Given the description of an element on the screen output the (x, y) to click on. 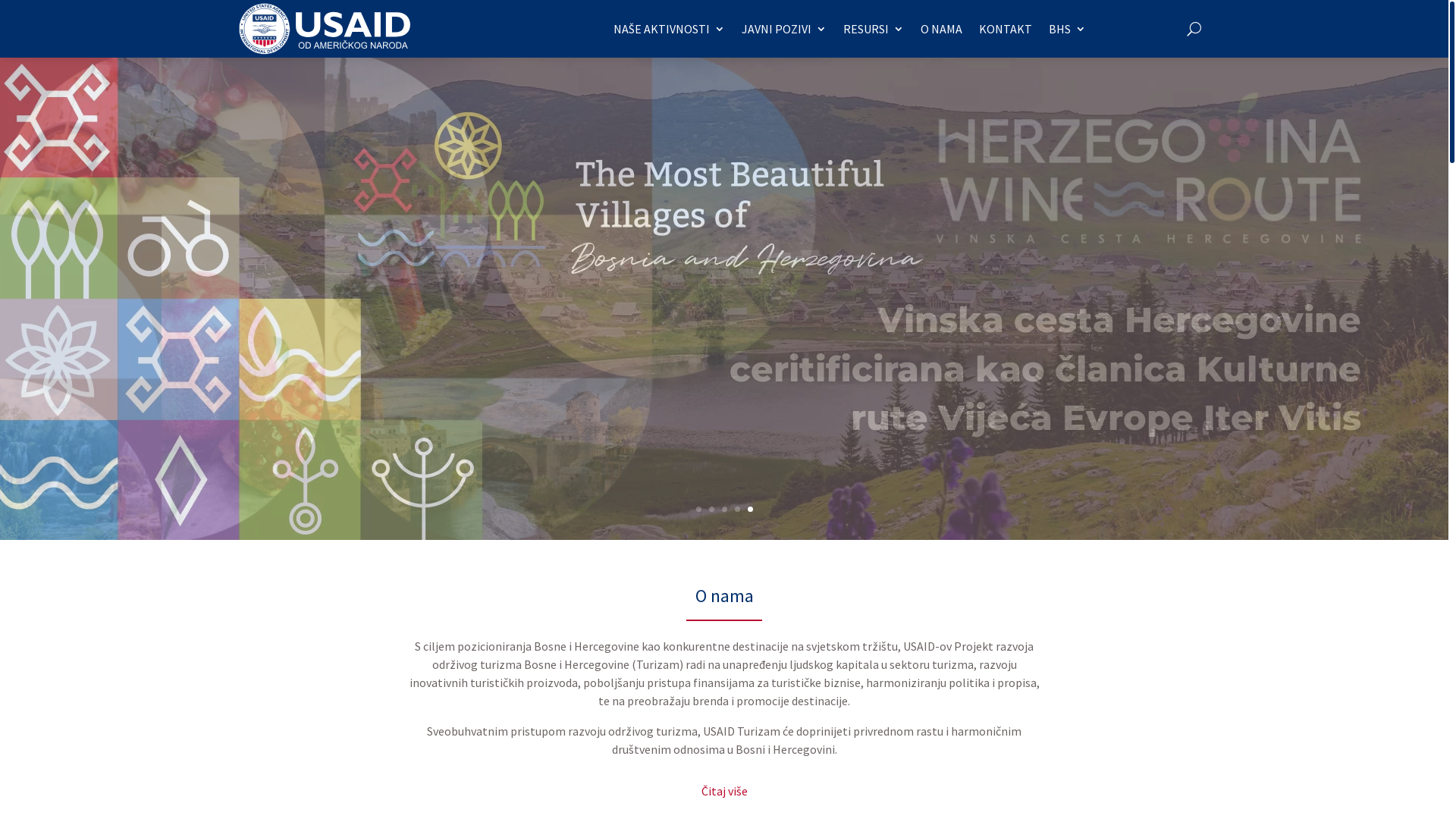
5 Element type: text (750, 508)
BHS Element type: text (1066, 28)
1 Element type: text (698, 508)
KONTAKT Element type: text (1005, 28)
3 Element type: text (724, 508)
2 Element type: text (710, 508)
O NAMA Element type: text (941, 28)
JAVNI POZIVI Element type: text (783, 28)
4 Element type: text (736, 508)
USAID_Logo_BS_White Element type: hover (324, 28)
RESURSI Element type: text (873, 28)
